Given the description of an element on the screen output the (x, y) to click on. 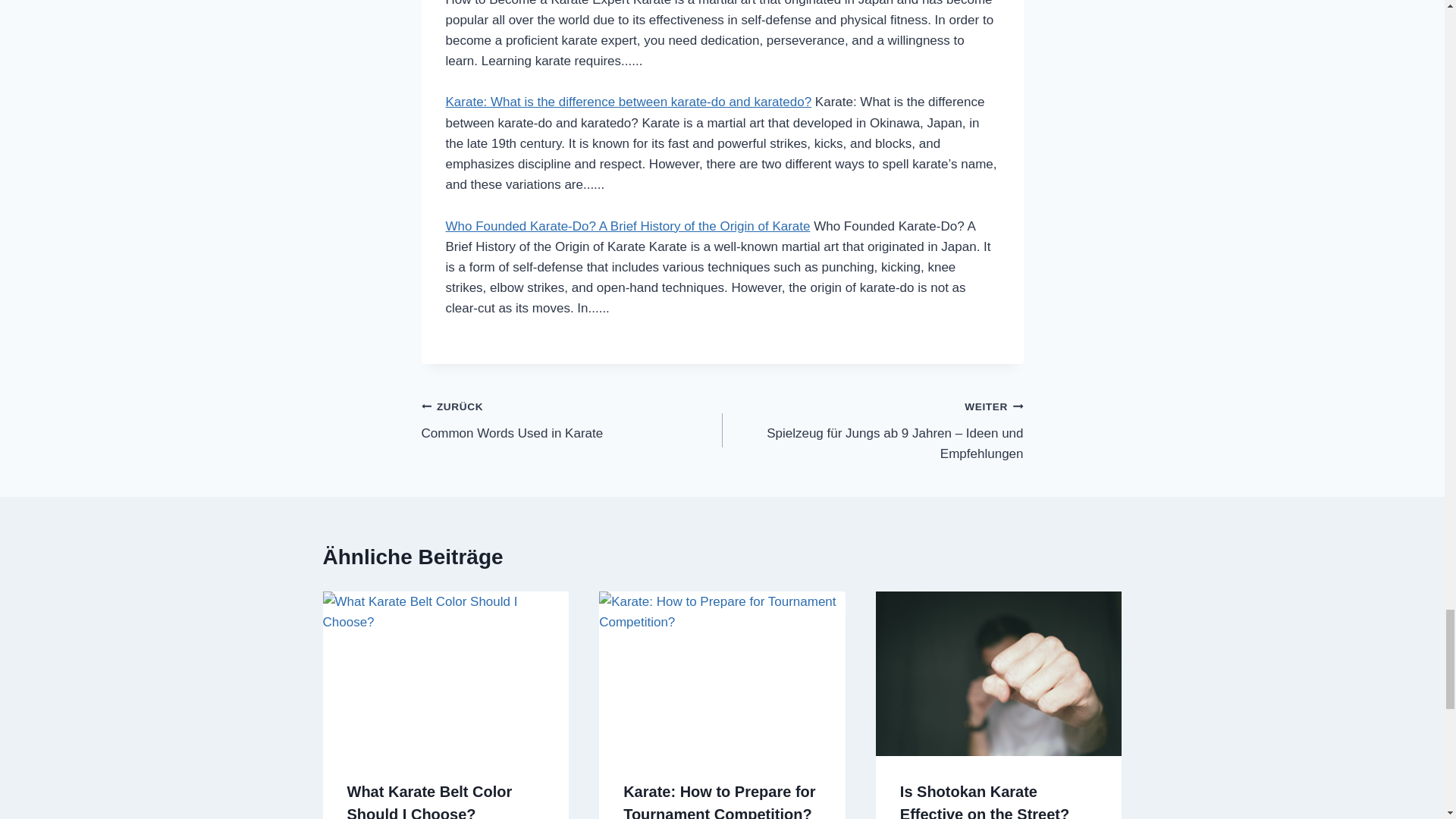
What Karate Belt Color Should I Choose? (429, 800)
